Given the description of an element on the screen output the (x, y) to click on. 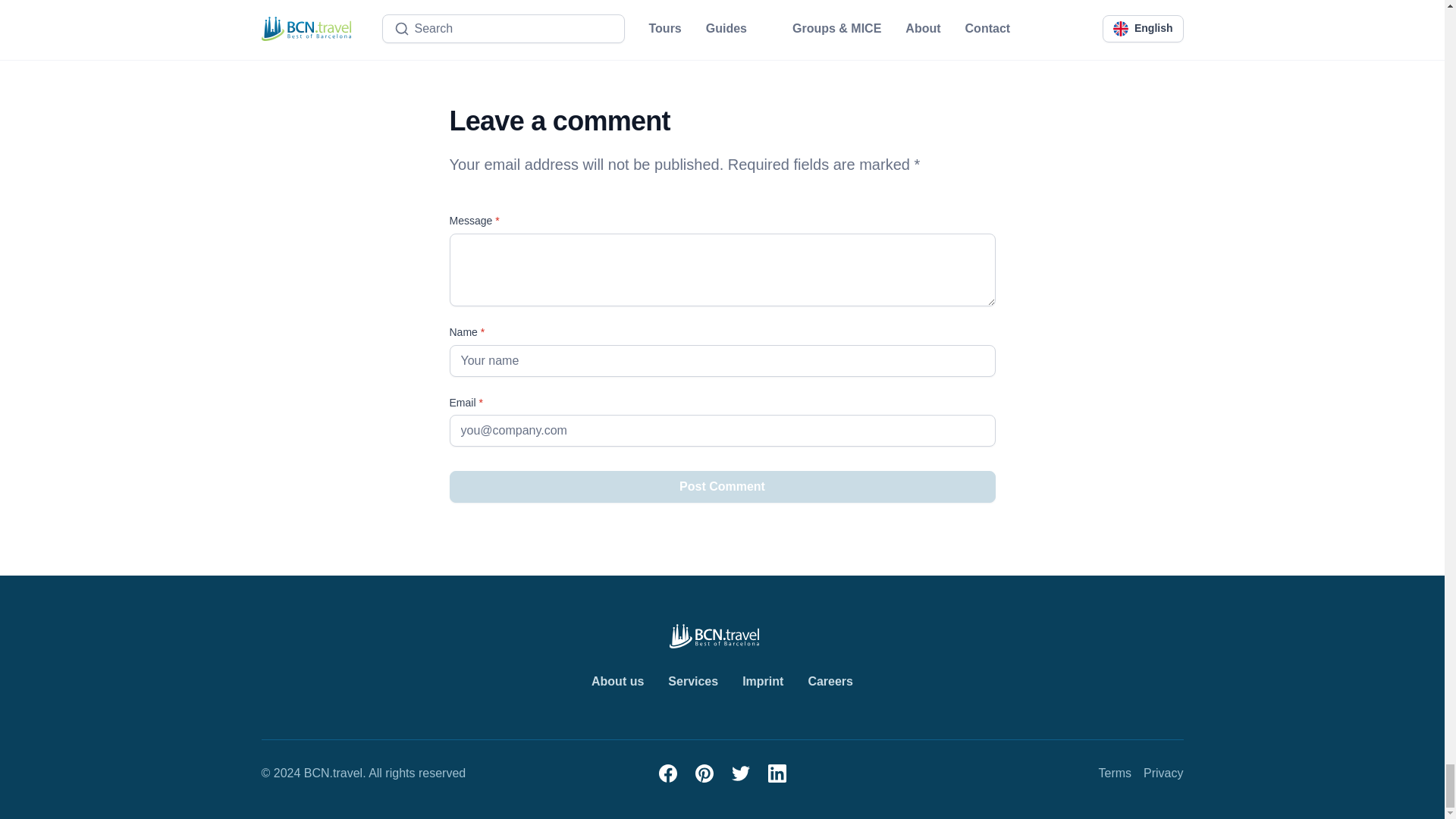
Post Comment (721, 486)
